Given the description of an element on the screen output the (x, y) to click on. 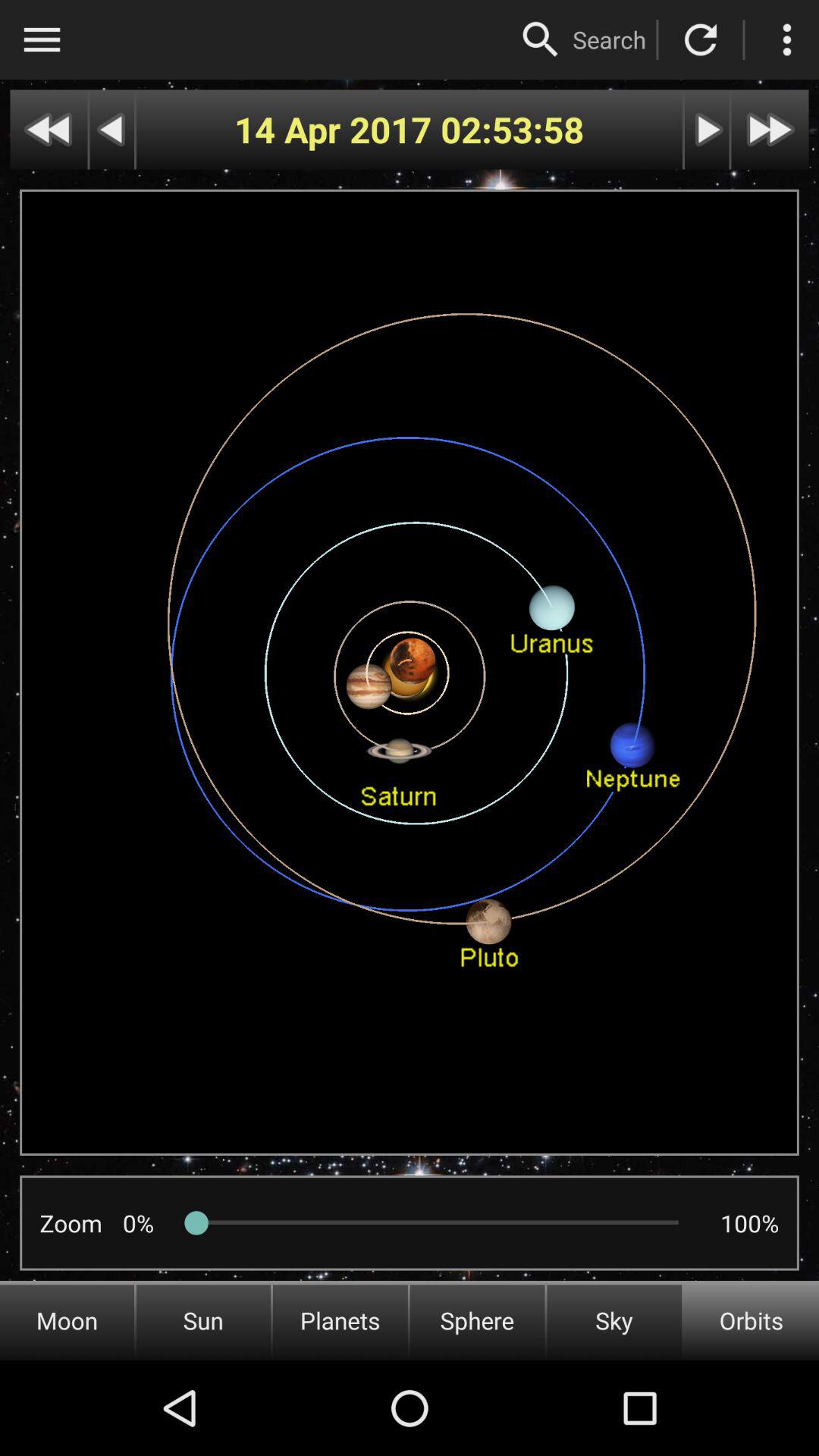
search (540, 39)
